Given the description of an element on the screen output the (x, y) to click on. 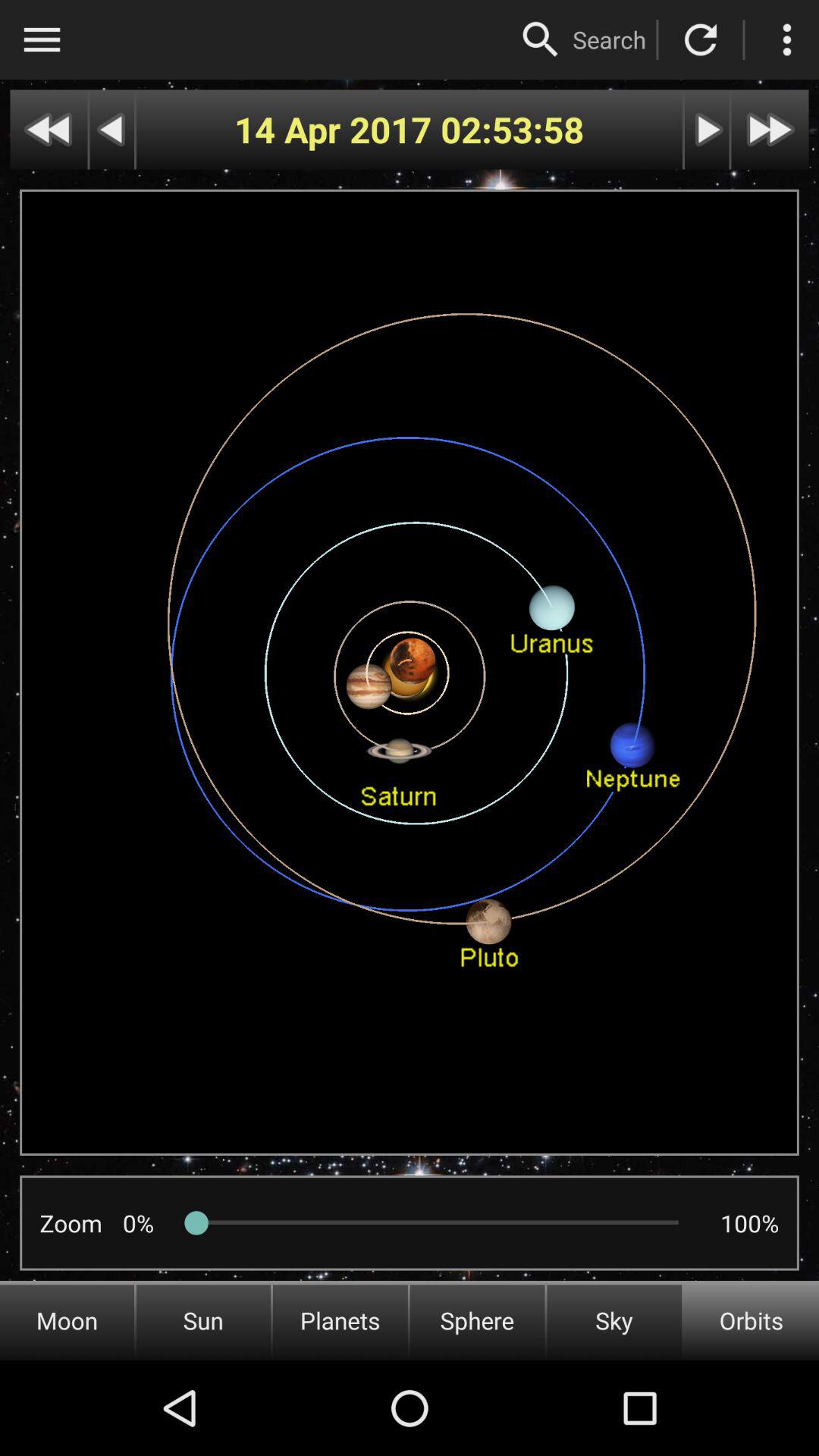
search (540, 39)
